Given the description of an element on the screen output the (x, y) to click on. 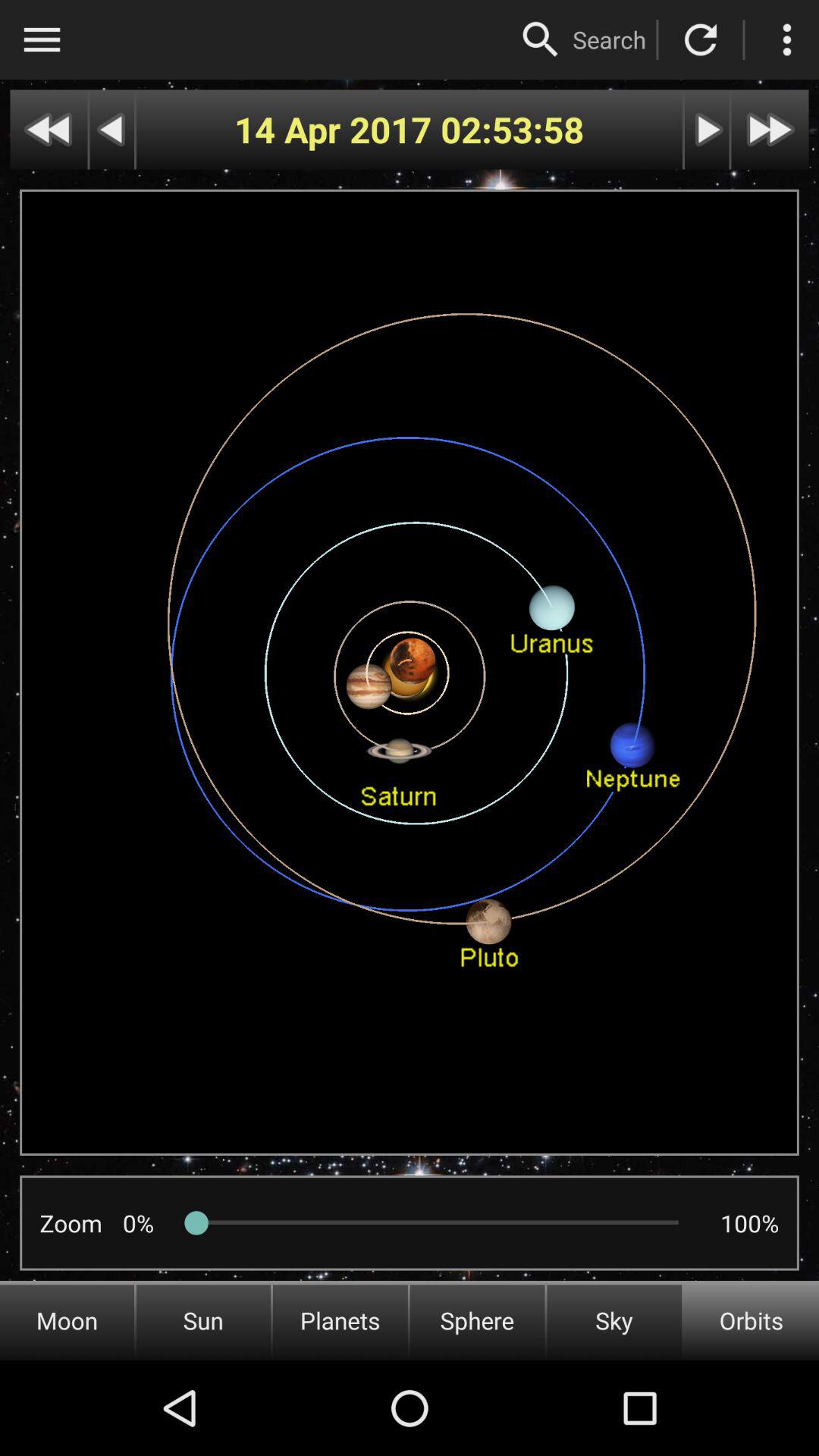
search (540, 39)
